Given the description of an element on the screen output the (x, y) to click on. 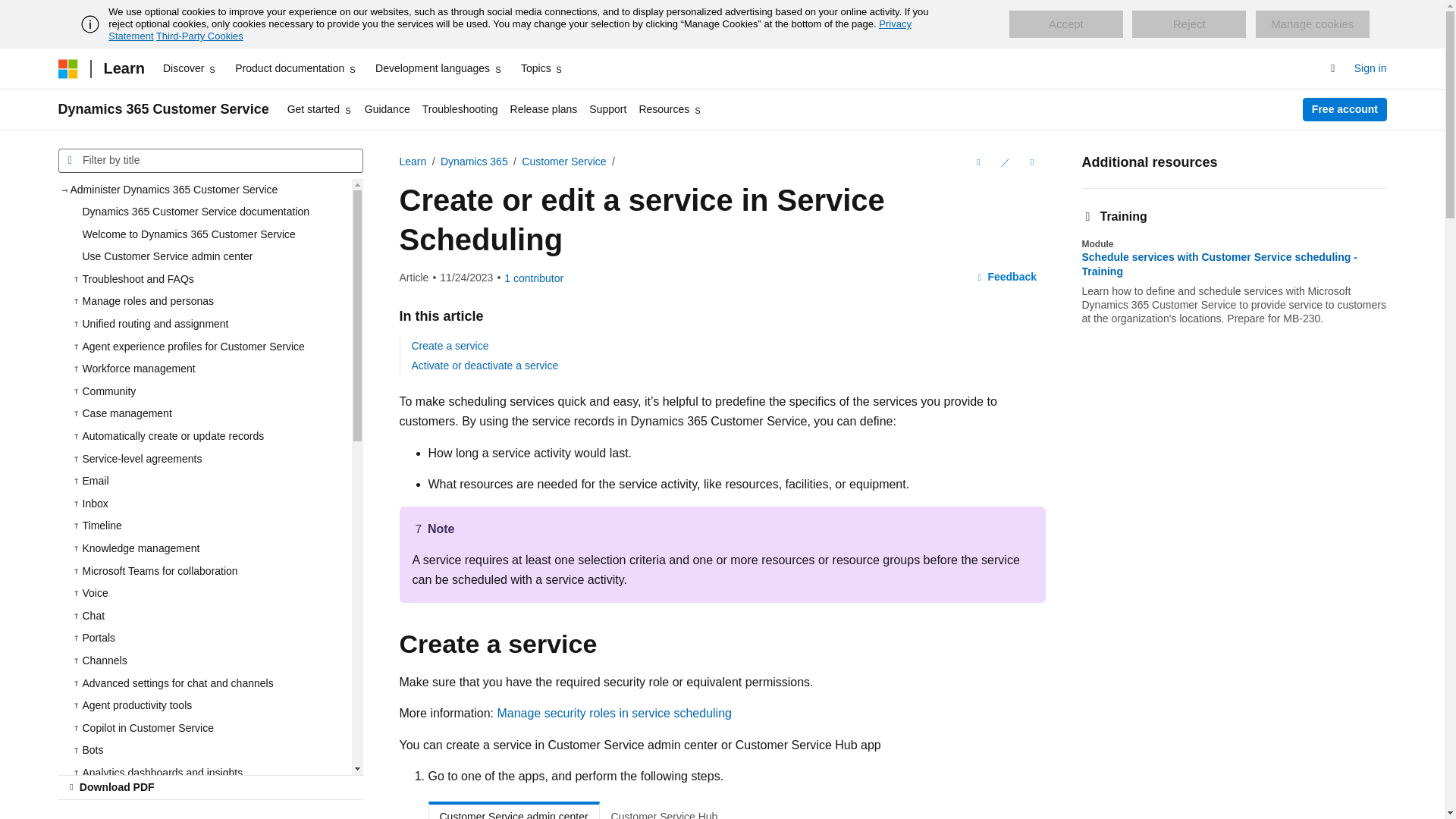
Third-Party Cookies (199, 35)
Manage cookies (1312, 23)
Learn (123, 68)
Get started (319, 109)
Topics (542, 68)
Guidance (387, 109)
Development languages (438, 68)
Troubleshooting (459, 109)
Edit This Document (1004, 161)
Skip to main content (11, 11)
